Given the description of an element on the screen output the (x, y) to click on. 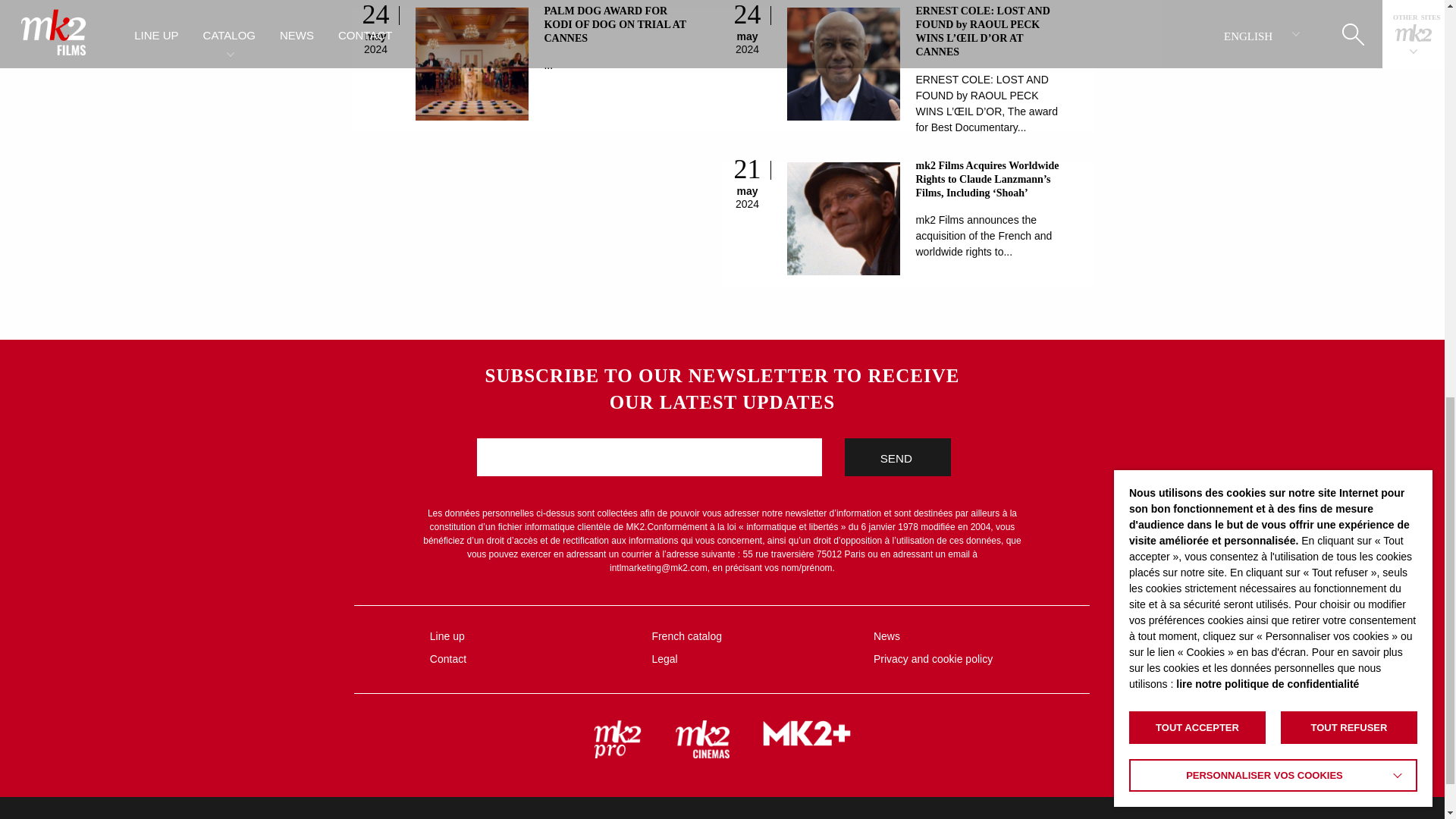
send (897, 456)
Privacy and cookie policy (972, 658)
Contact (528, 658)
Legal (750, 658)
News (972, 635)
French catalog (750, 635)
PALM DOG AWARD FOR KODI OF DOG ON TRIAL AT CANNES (614, 24)
Line up (528, 635)
send (897, 456)
